Given the description of an element on the screen output the (x, y) to click on. 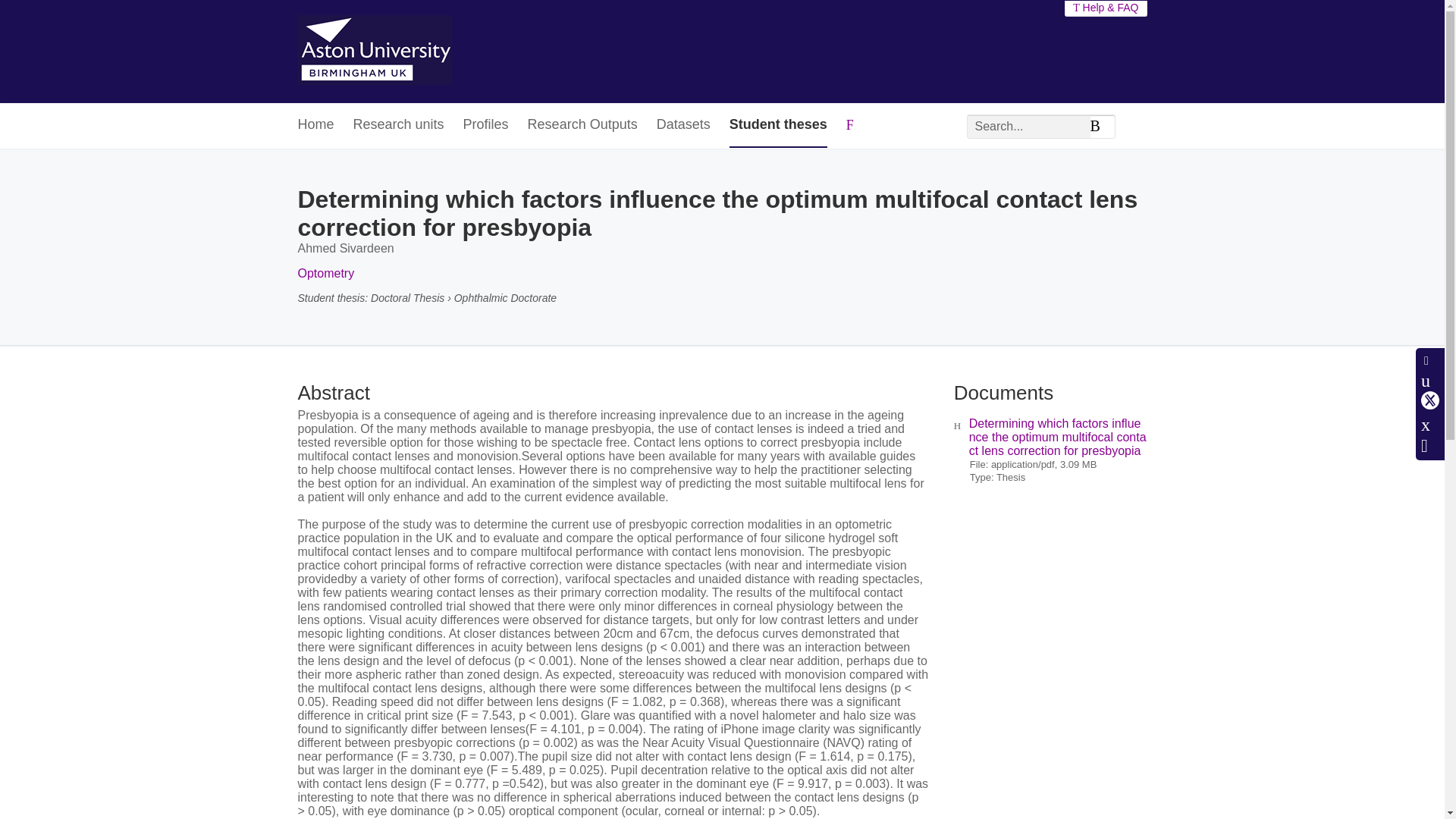
Student theses (778, 125)
Optometry (325, 273)
Profiles (485, 125)
Research units (398, 125)
Aston Research Explorer Home (374, 51)
Datasets (683, 125)
Research Outputs (582, 125)
